Given the description of an element on the screen output the (x, y) to click on. 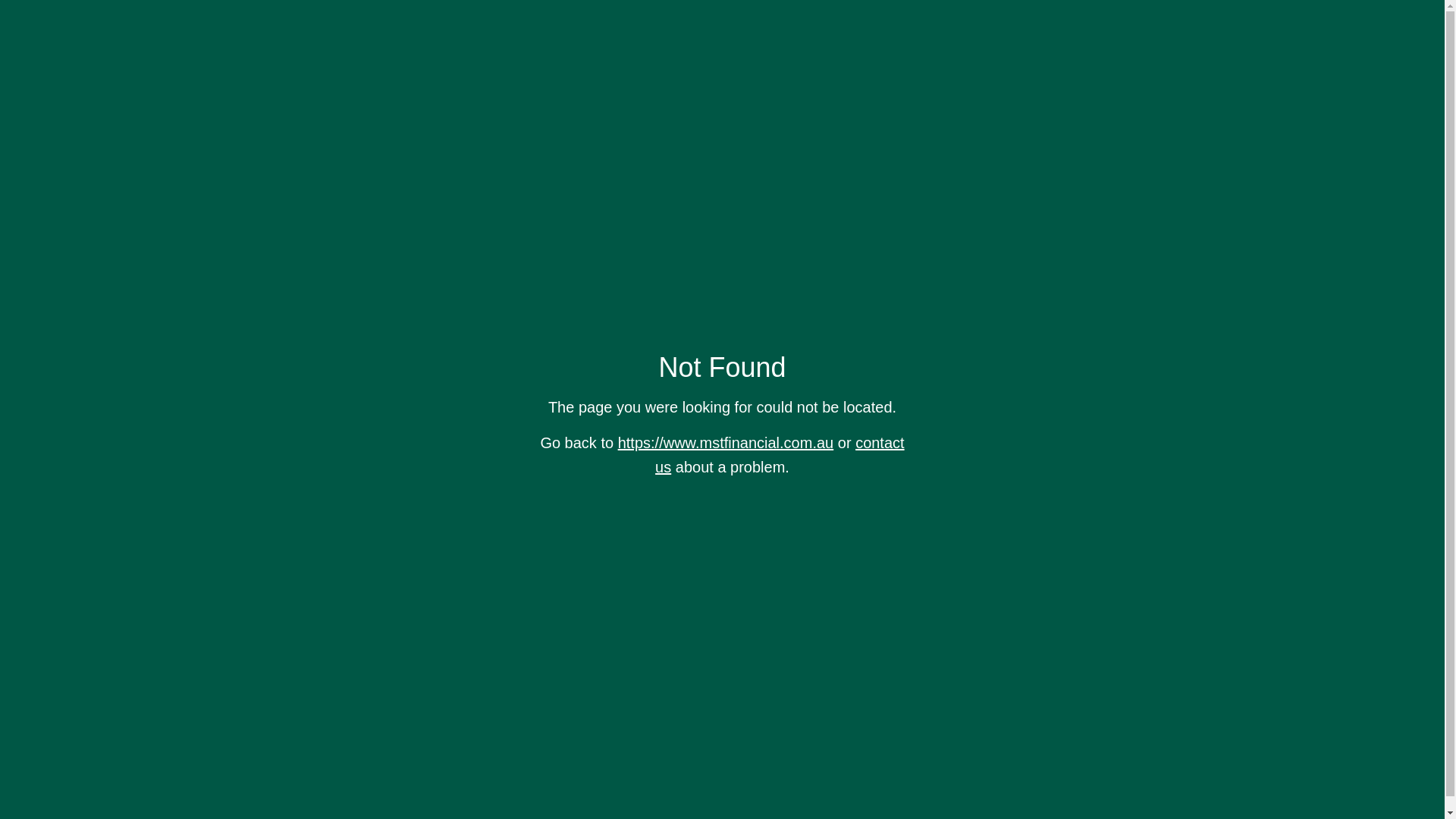
https://www.mstfinancial.com.au Element type: text (726, 442)
contact us Element type: text (779, 454)
